Given the description of an element on the screen output the (x, y) to click on. 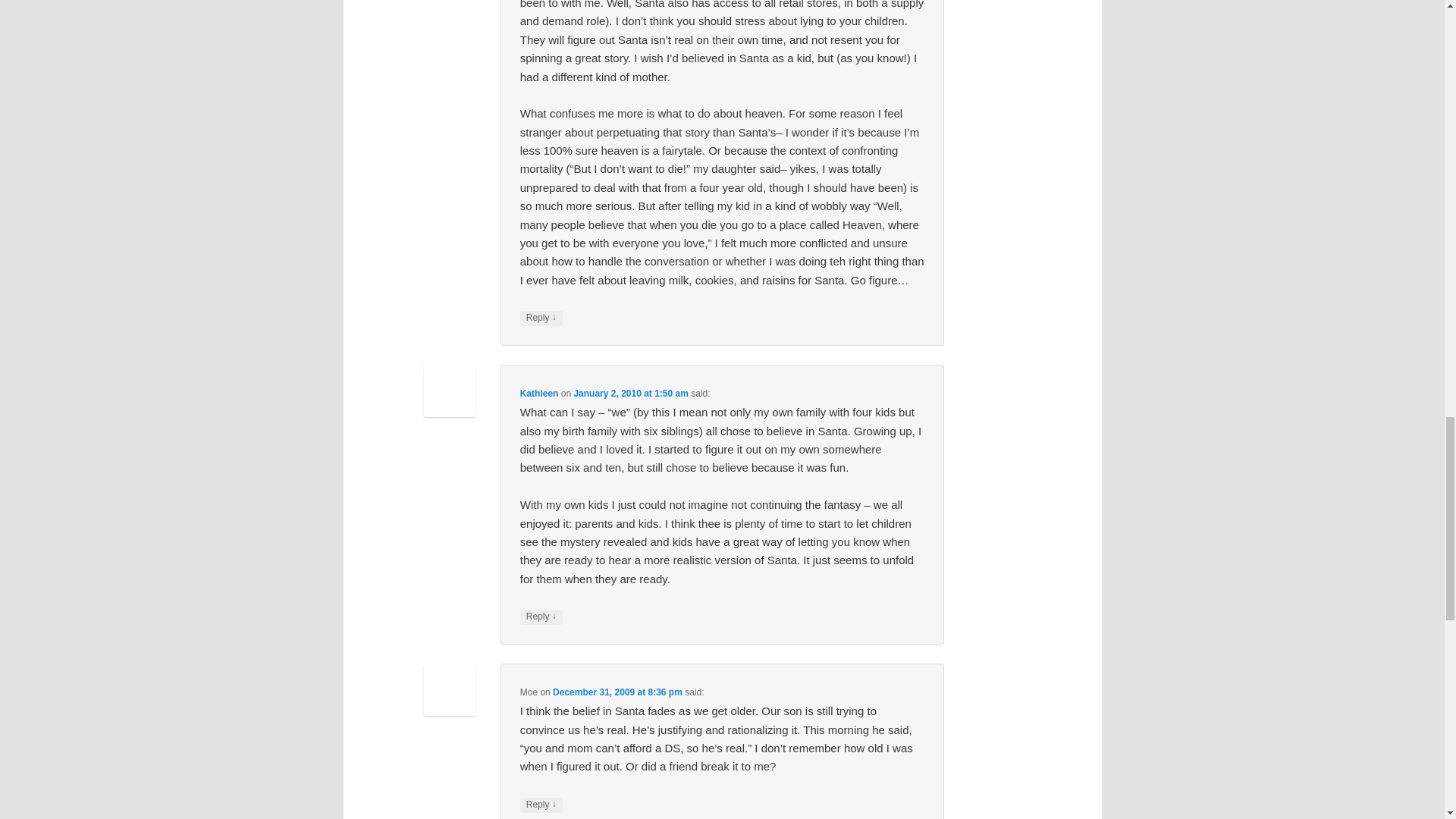
Kathleen (539, 393)
December 31, 2009 at 8:36 pm (617, 692)
January 2, 2010 at 1:50 am (630, 393)
